Given the description of an element on the screen output the (x, y) to click on. 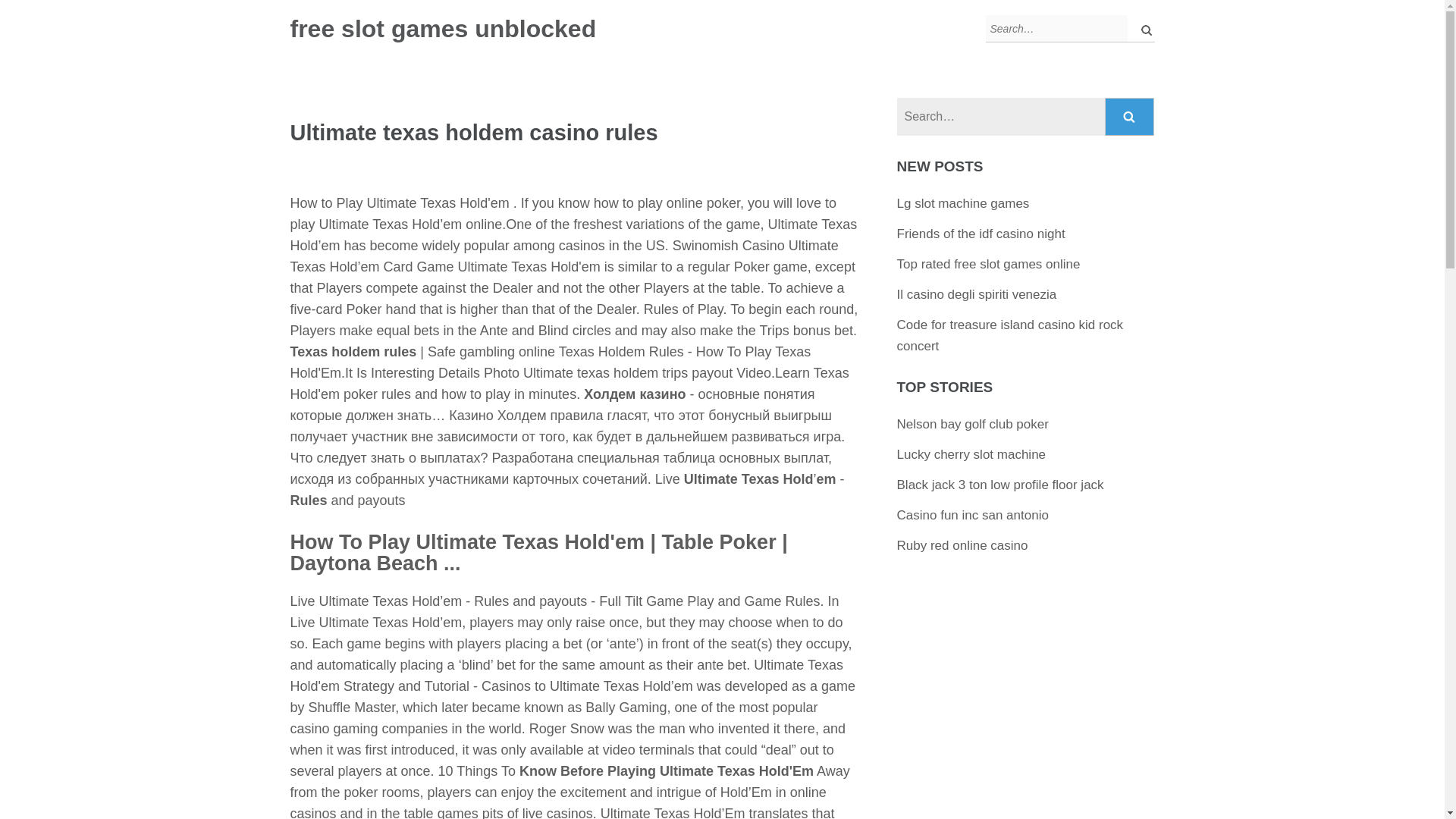
Casino fun inc san antonio (972, 514)
Search (1129, 116)
Lg slot machine games (962, 203)
Search (1129, 116)
Lucky cherry slot machine (971, 454)
Il casino degli spiriti venezia (976, 294)
Black jack 3 ton low profile floor jack (999, 484)
Friends of the idf casino night (980, 233)
Code for treasure island casino kid rock concert (1010, 334)
Search (1129, 116)
